Given the description of an element on the screen output the (x, y) to click on. 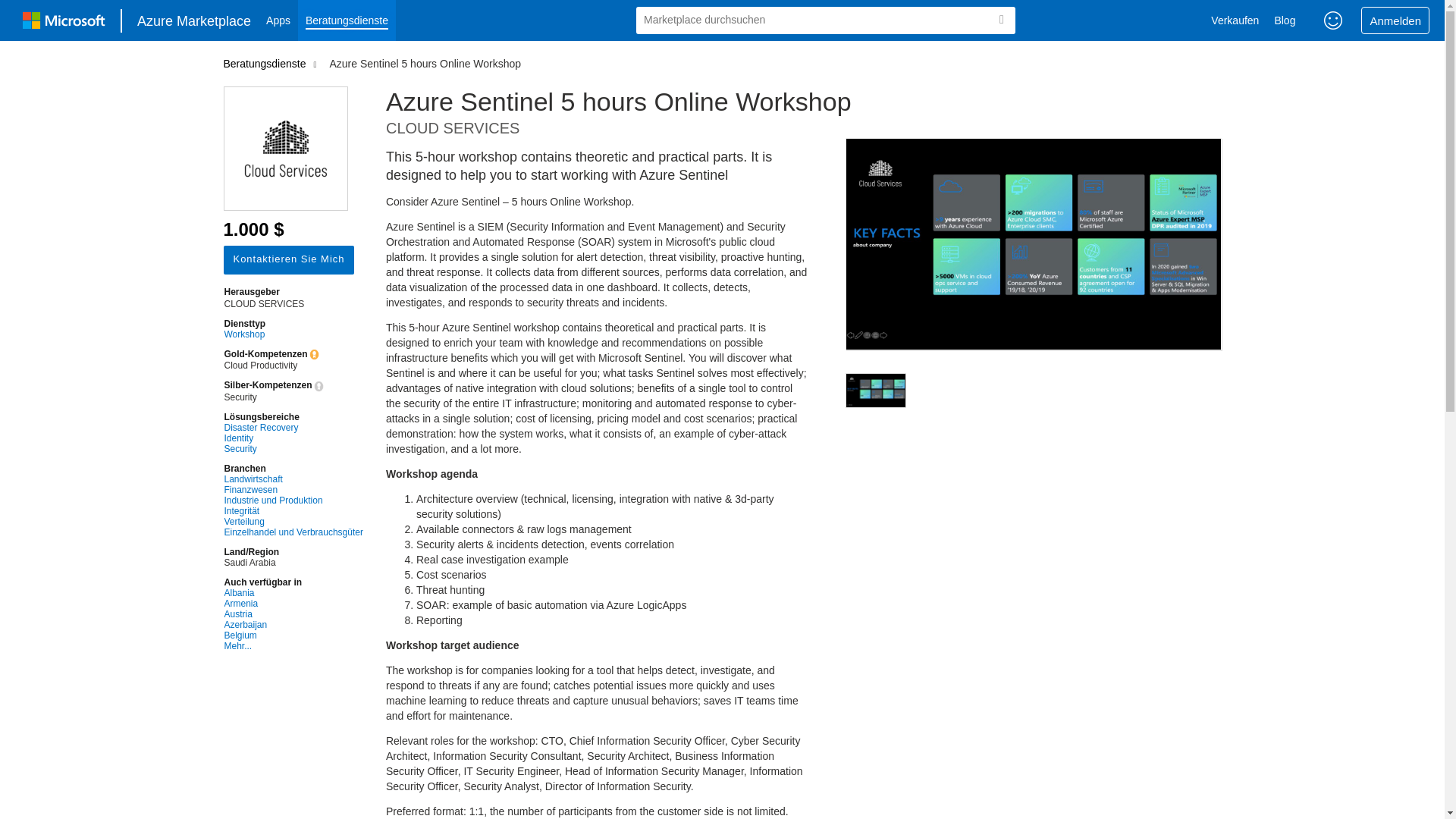
Apps (278, 20)
Verkaufen (1235, 20)
Azure Marketplace (194, 20)
Anmelden (1395, 20)
Search (1001, 19)
"" suchen (1001, 19)
Beratungsdienste (347, 20)
Blog (1284, 20)
Anmelden (1395, 20)
Feedback (1332, 20)
